Given the description of an element on the screen output the (x, y) to click on. 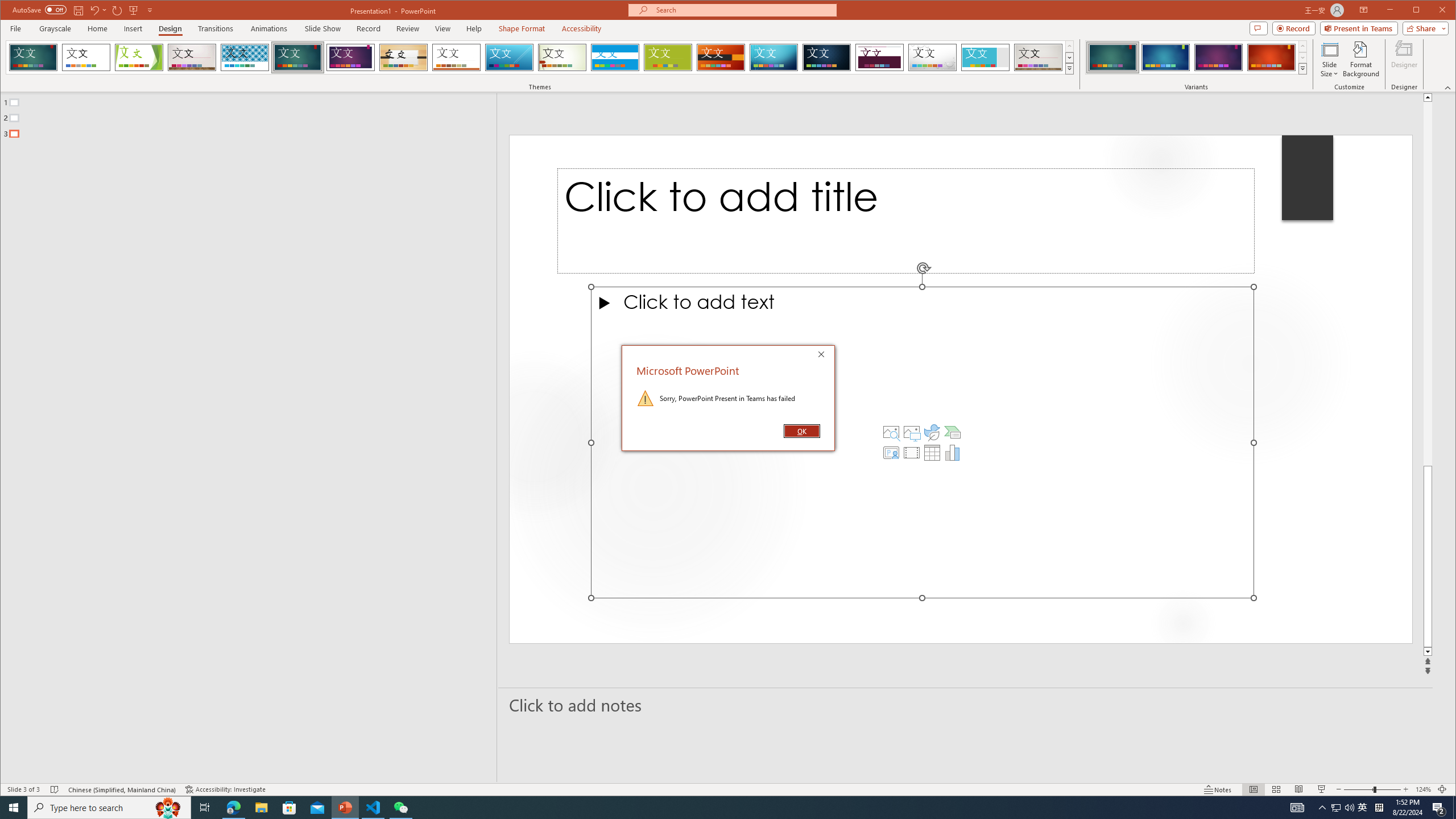
Ion (297, 57)
Dividend (879, 57)
Row up (1302, 46)
Shape Format (521, 28)
Type here to search (108, 807)
Insert Chart (952, 452)
Search highlights icon opens search home window (167, 807)
Zoom 124% (1422, 789)
Slide Notes (965, 704)
AutomationID: ThemeVariantsGallery (1196, 57)
Start (13, 807)
